Given the description of an element on the screen output the (x, y) to click on. 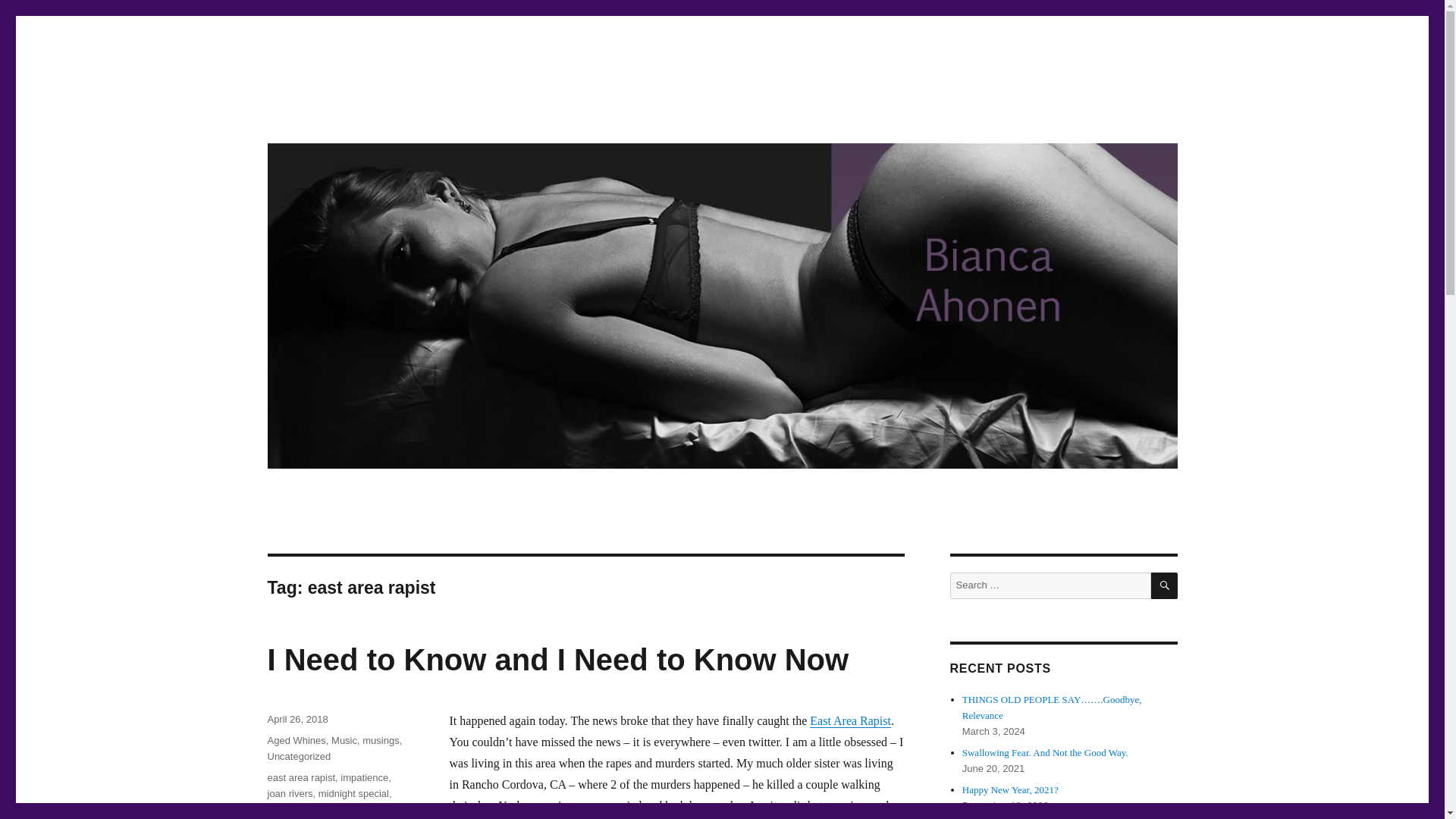
Uncategorized (298, 756)
midnight special (353, 793)
Tom Petty (288, 808)
impatience (364, 777)
Happy New Year, 2021? (1010, 789)
east area rapist (300, 777)
SEARCH (1164, 585)
joan rivers (289, 793)
I Need to Know and I Need to Know Now (557, 659)
Music (343, 740)
Writer of porn and other things (422, 114)
April 26, 2018 (296, 718)
Swallowing Fear. And Not the Good Way. (1045, 752)
Aged Whines (295, 740)
East Area Rapist (850, 720)
